Given the description of an element on the screen output the (x, y) to click on. 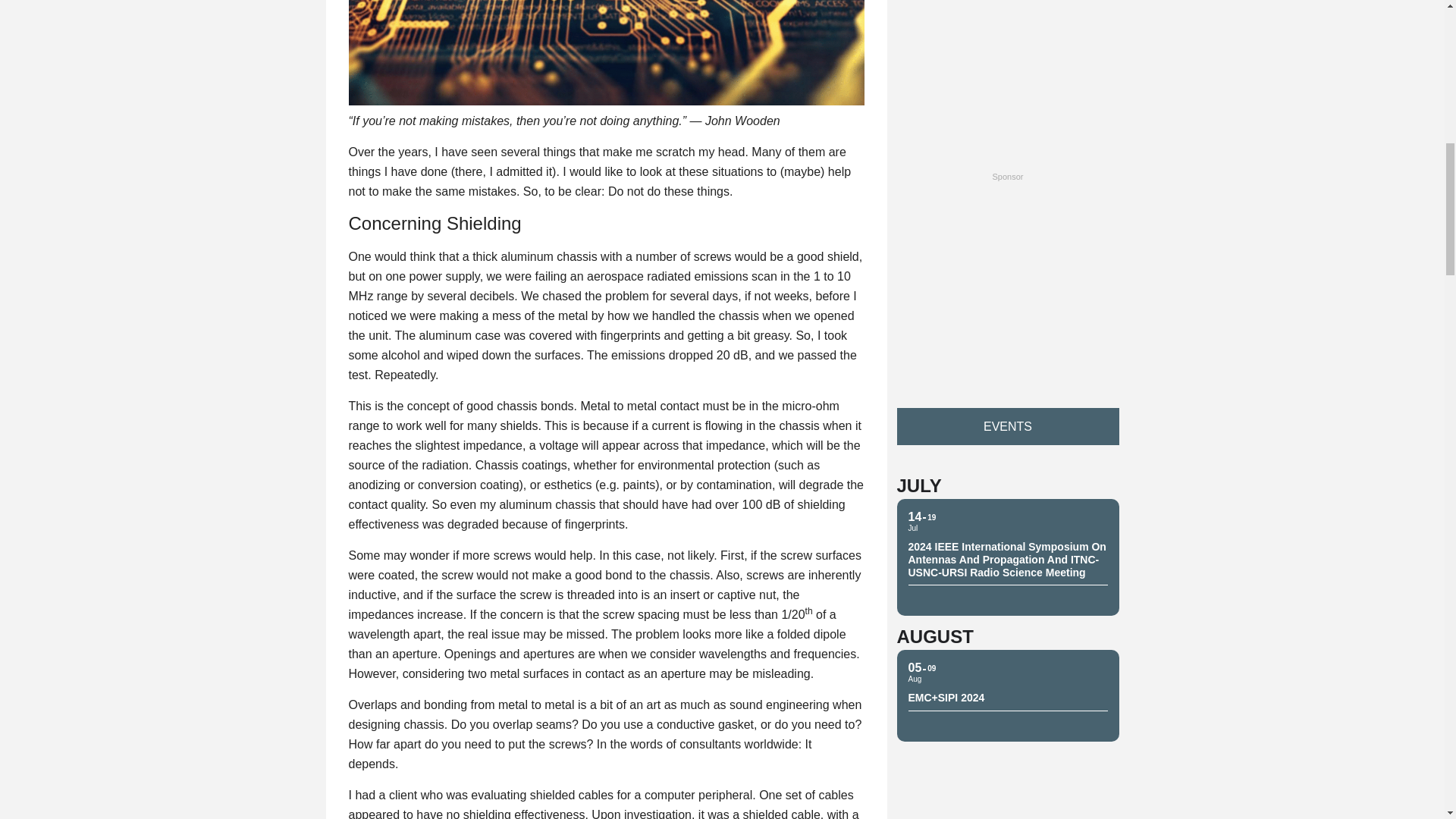
3rd party ad content (1007, 70)
3rd party ad content (1007, 282)
